Given the description of an element on the screen output the (x, y) to click on. 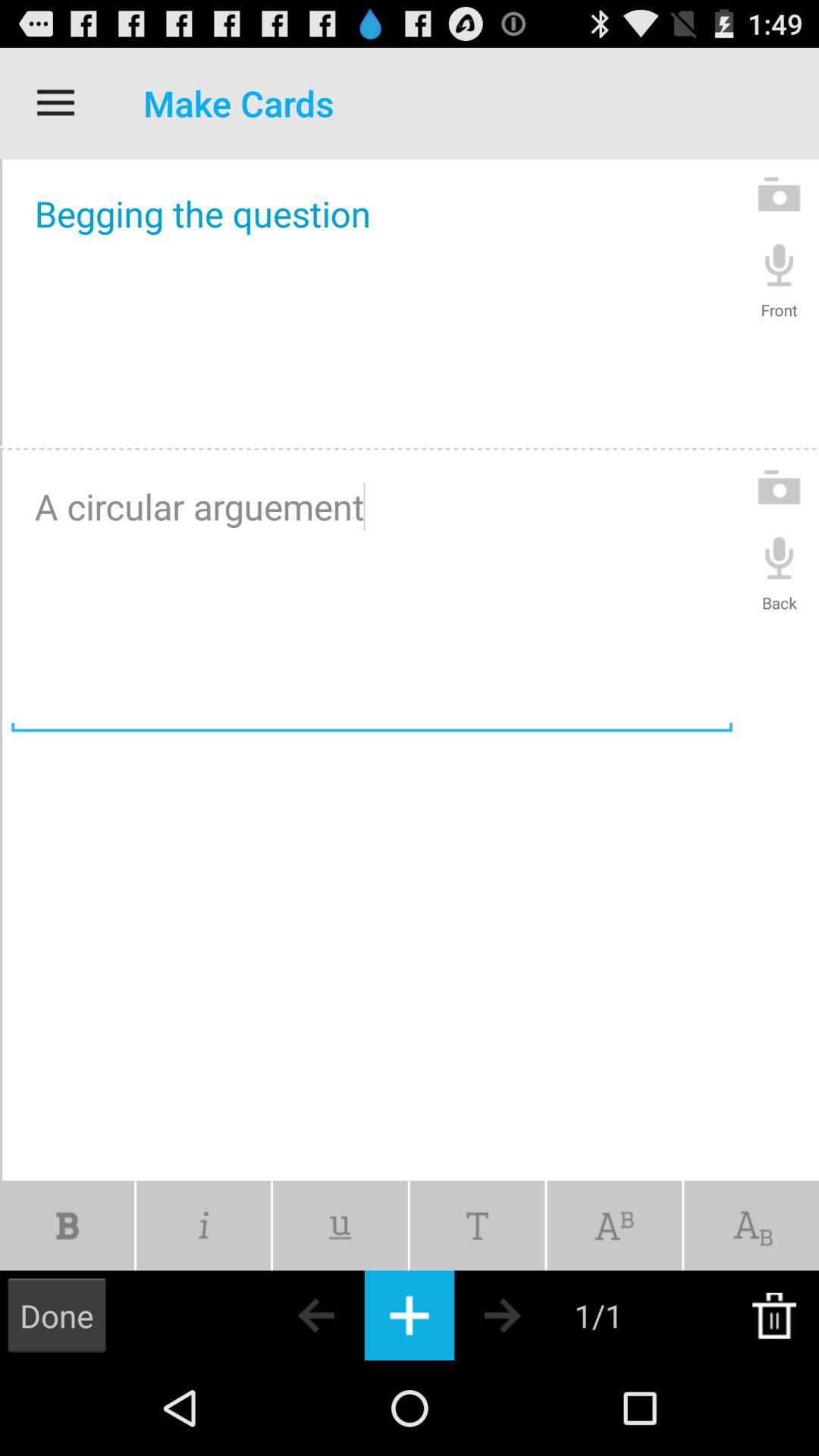
go back (289, 1315)
